Given the description of an element on the screen output the (x, y) to click on. 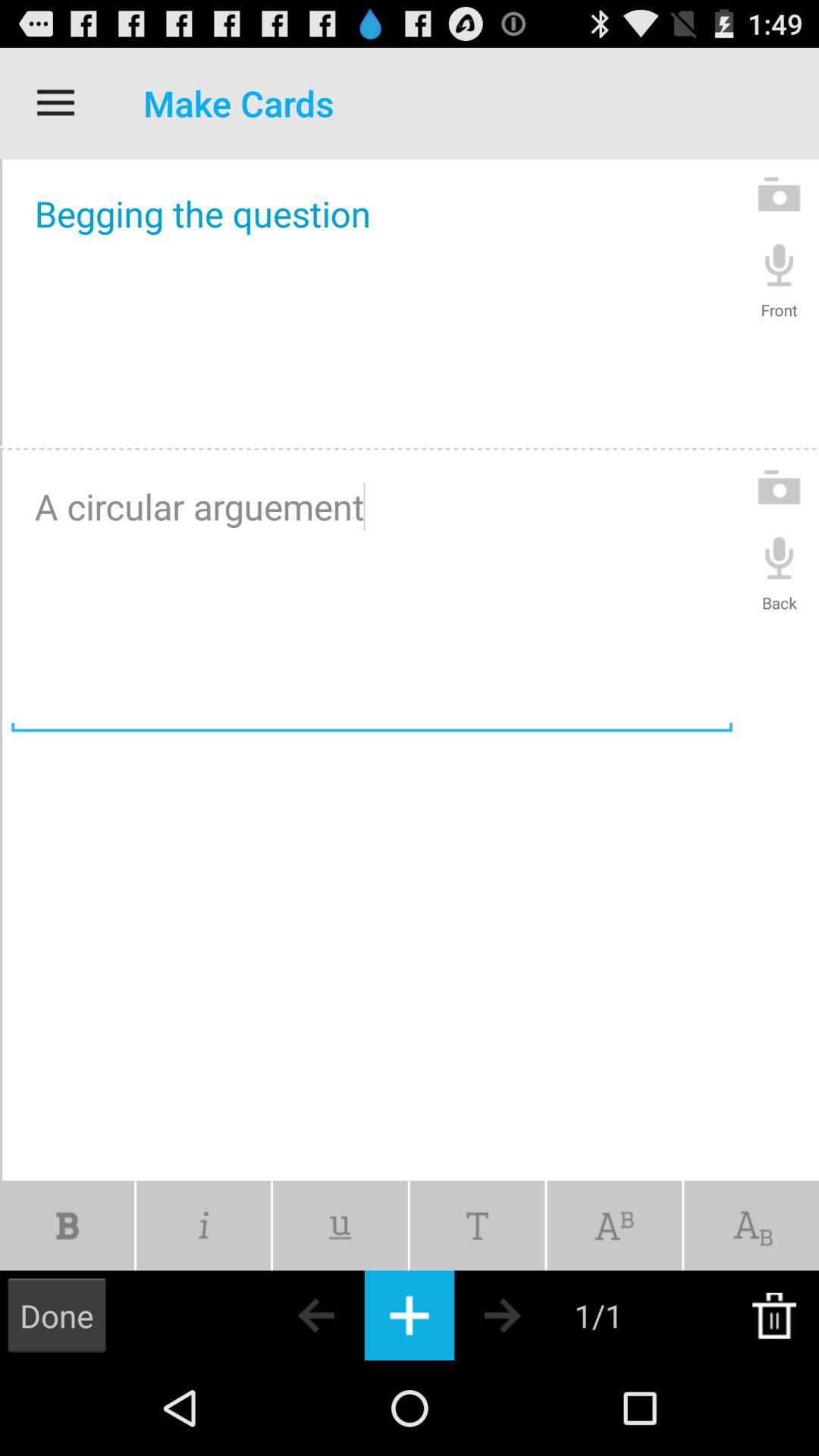
go back (289, 1315)
